Given the description of an element on the screen output the (x, y) to click on. 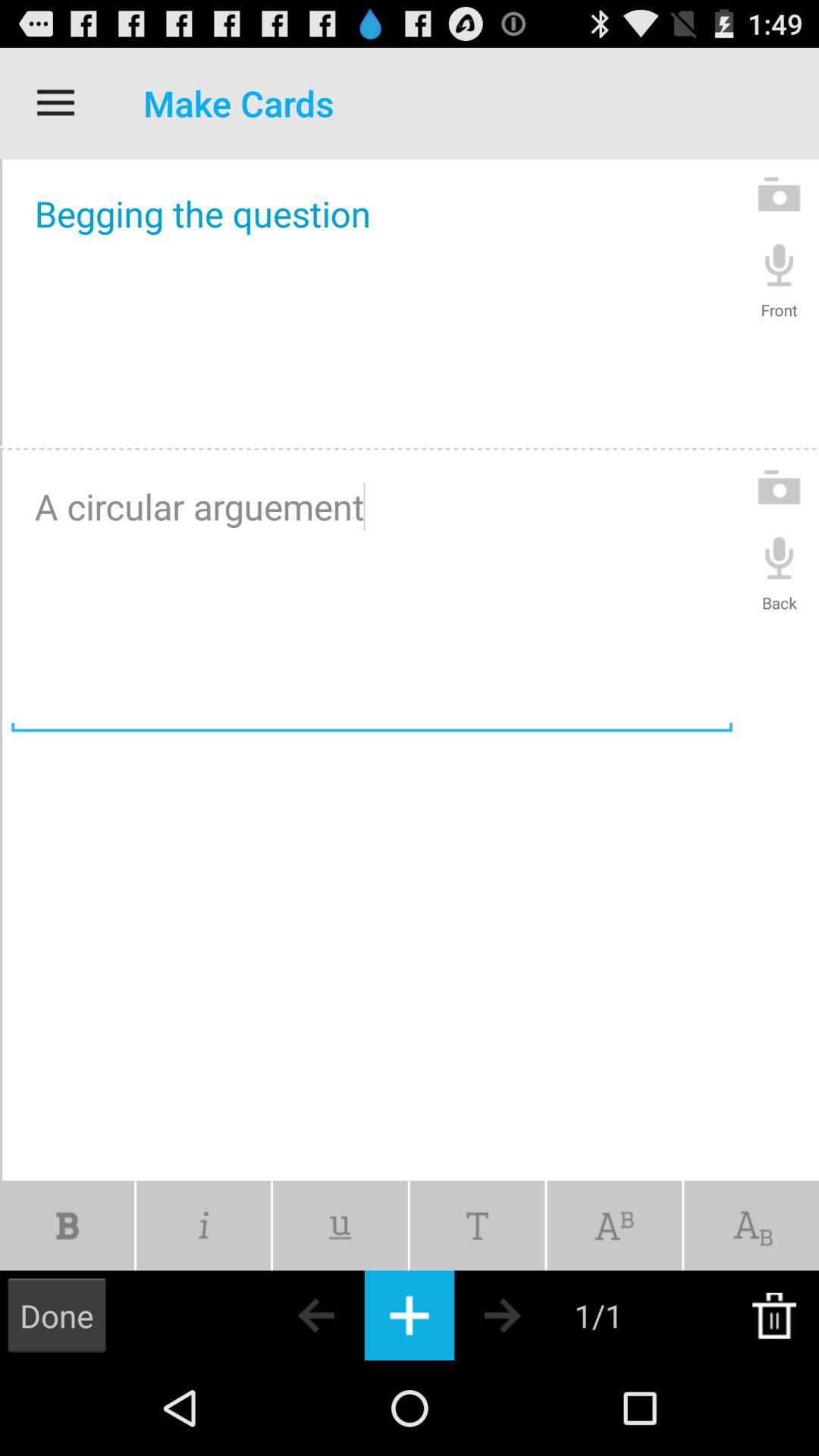
go back (289, 1315)
